Given the description of an element on the screen output the (x, y) to click on. 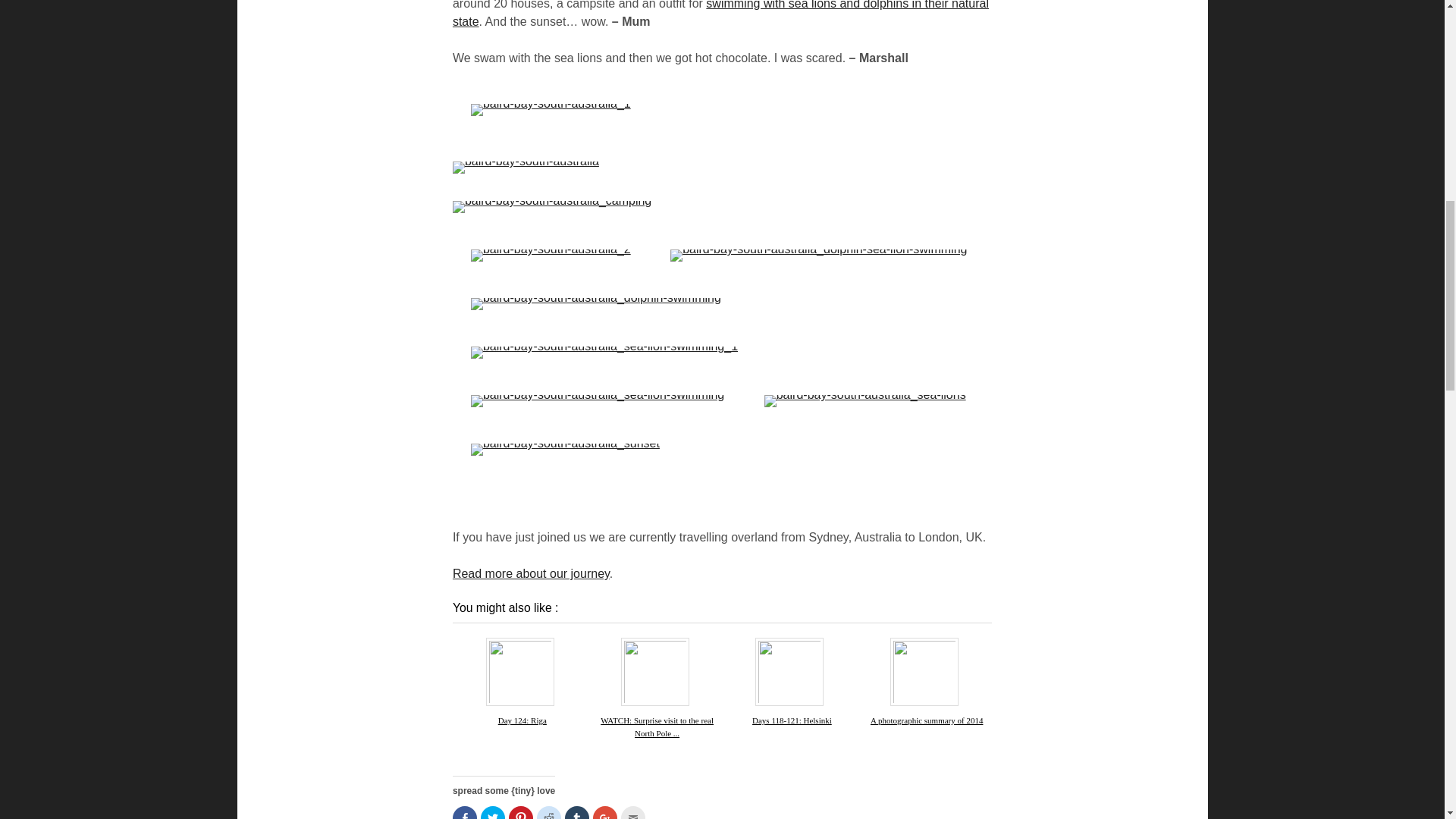
Click to share on Tumblr (576, 812)
Click to share on Twitter (492, 812)
WATCH: Surprise visit to the real North Pole ... (656, 726)
Days 118-121: Helsinki (791, 719)
Click to share on Pinterest (520, 812)
swimming with sea lions and dolphins in their natural state (720, 13)
A photographic summary of 2014 (926, 719)
Read more about our journey (531, 573)
Click to share on Reddit (548, 812)
Click to email this to a friend (633, 812)
Share on Facebook (464, 812)
Day 124: Riga (522, 719)
